Given the description of an element on the screen output the (x, y) to click on. 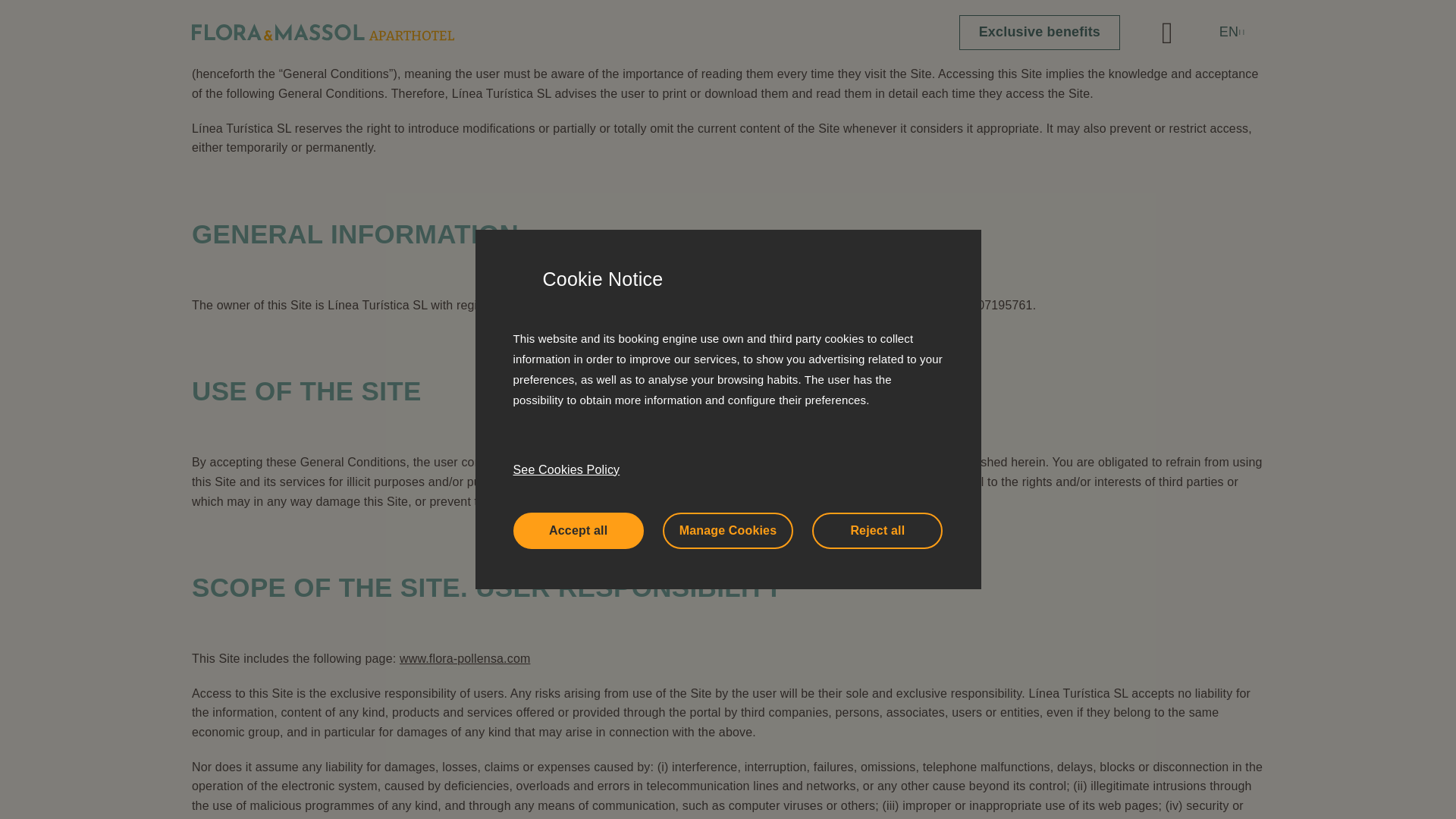
Flora Aparthotel (752, 3)
www.flora-pollensa.com (752, 3)
